Given the description of an element on the screen output the (x, y) to click on. 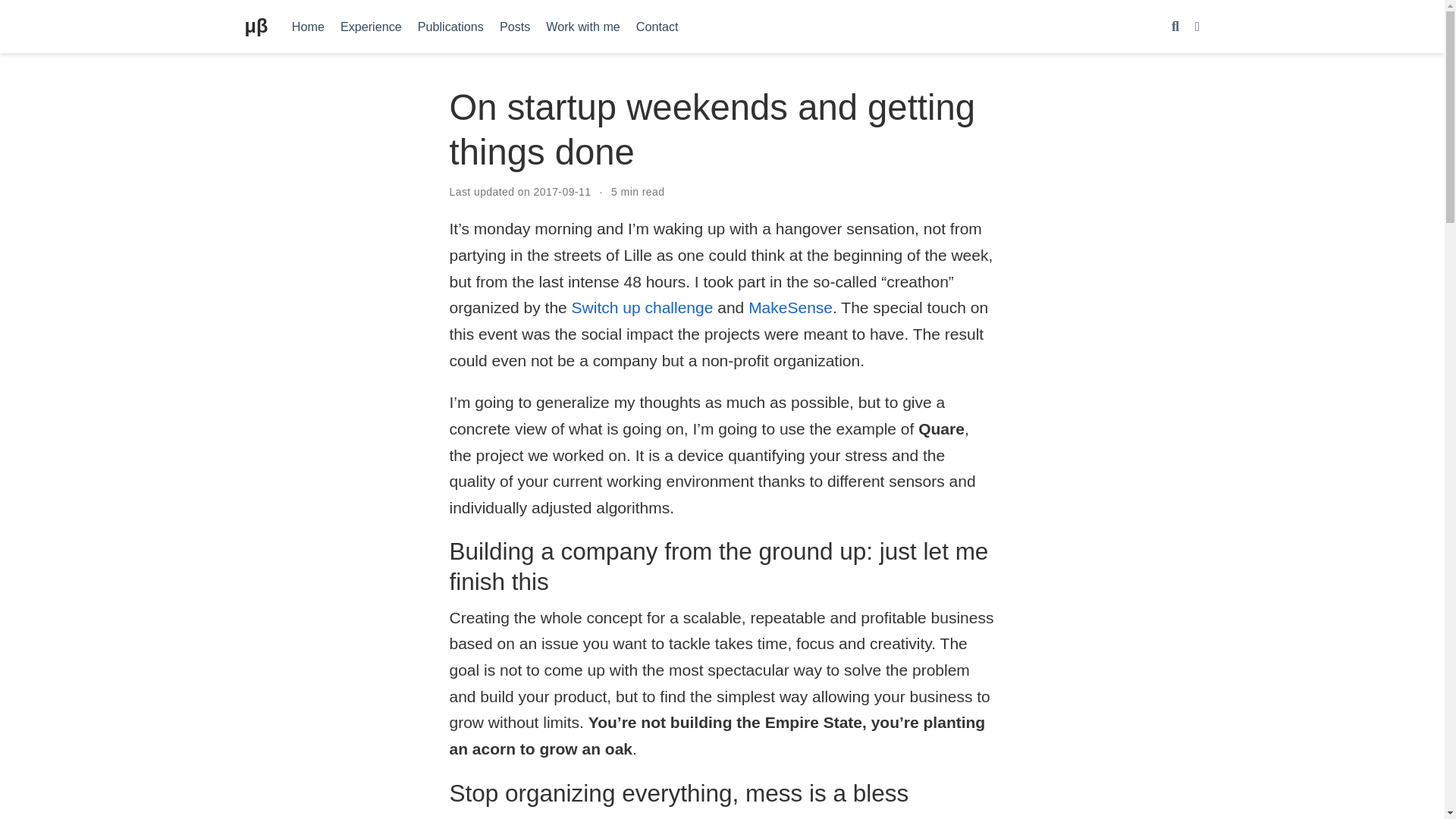
Publications (450, 25)
Switch up challenge (642, 307)
Work with me (583, 25)
Home (307, 25)
MakeSense (790, 307)
Contact (656, 25)
Experience (370, 25)
Posts (514, 25)
